Given the description of an element on the screen output the (x, y) to click on. 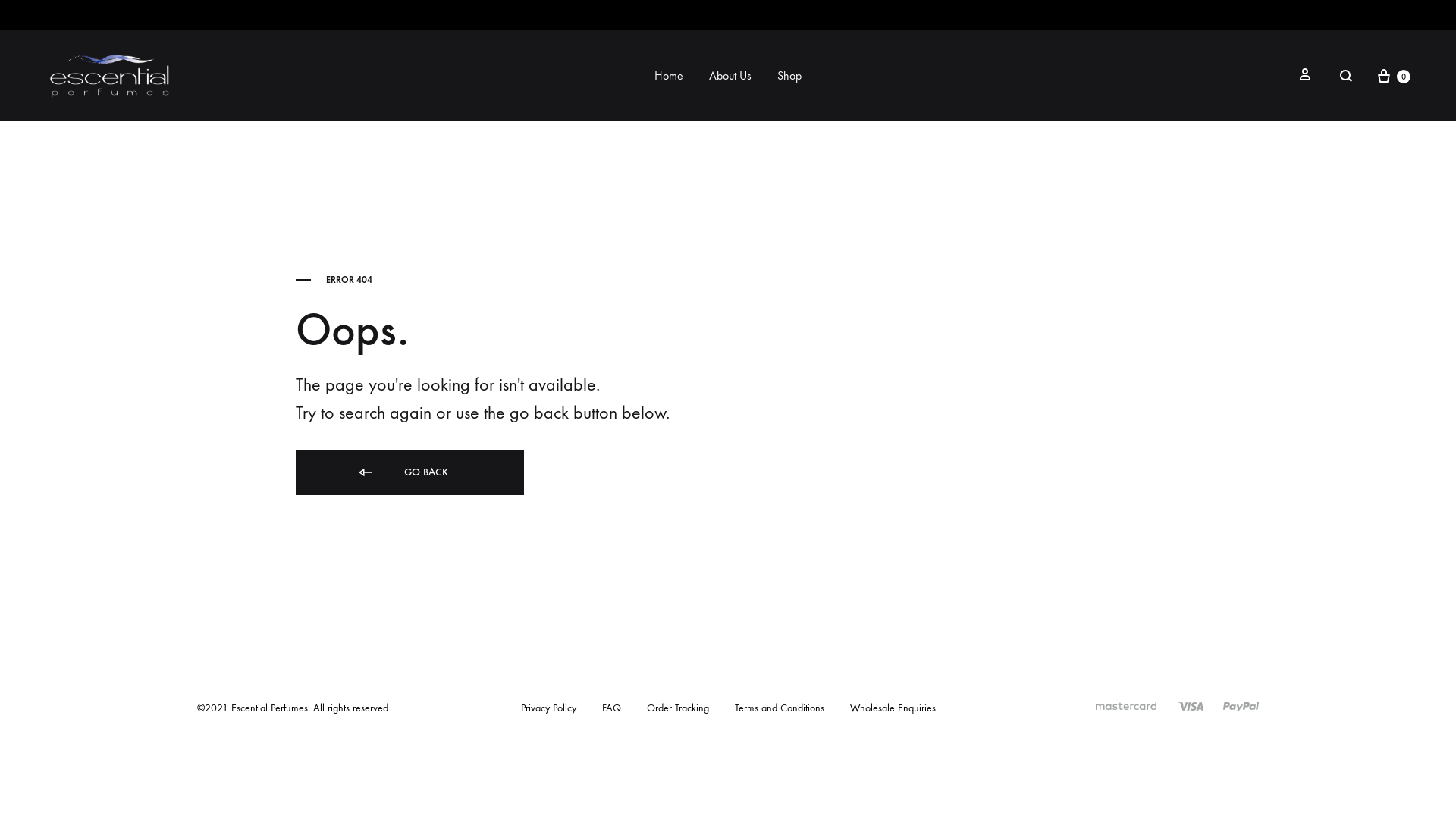
Wholesale Enquiries Element type: text (892, 707)
About Us Element type: text (730, 75)
Terms and Conditions Element type: text (778, 707)
Shop Element type: text (789, 75)
0 Element type: text (1392, 75)
Home Element type: text (668, 75)
FAQ Element type: text (611, 707)
Privacy Policy Element type: text (547, 707)
submit Element type: text (837, 587)
GO BACK Element type: text (409, 472)
Order Tracking Element type: text (677, 707)
